Given the description of an element on the screen output the (x, y) to click on. 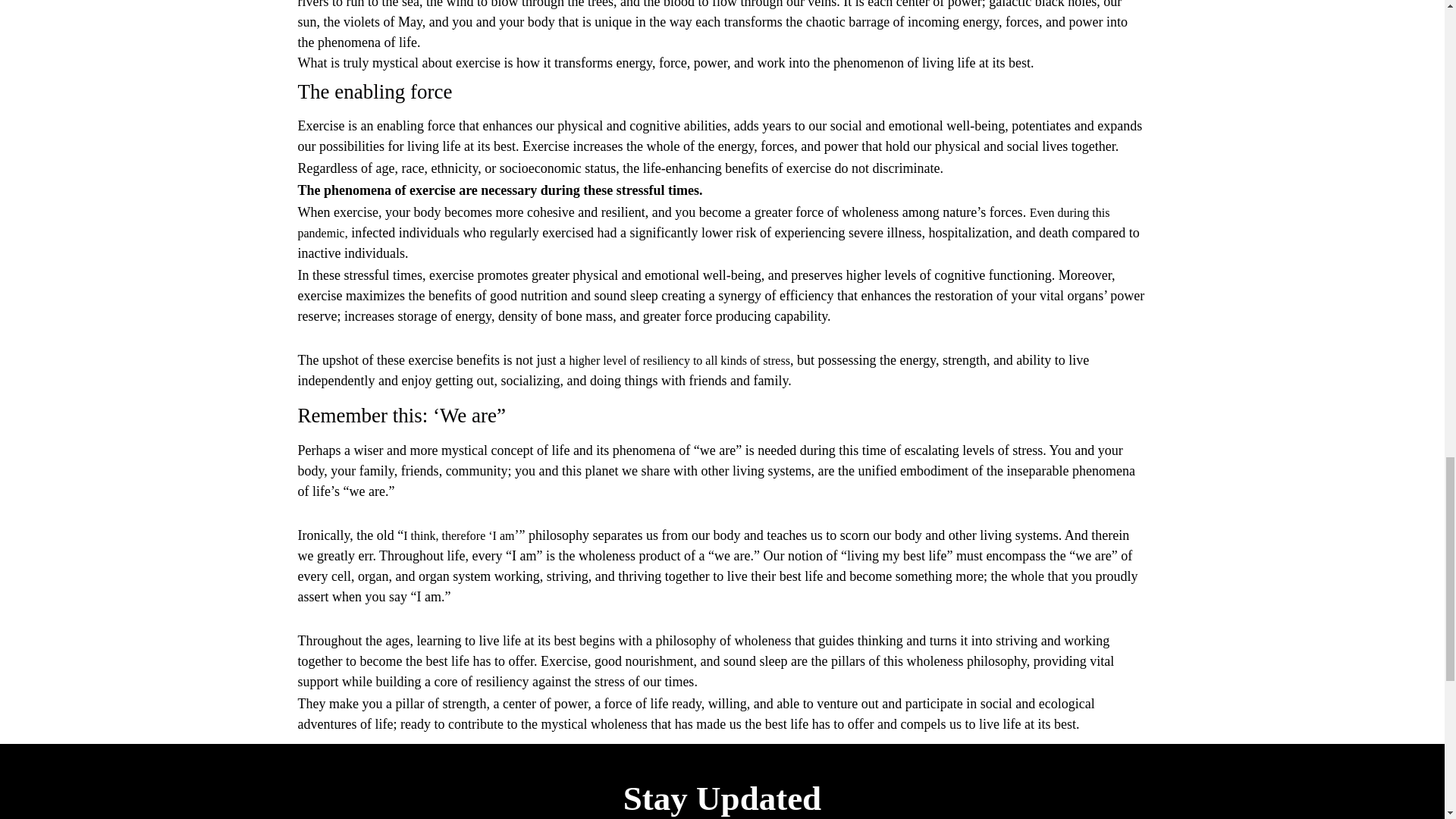
Even during this pandemic, (703, 222)
higher level of resiliency to all kinds of stress (679, 359)
